Given the description of an element on the screen output the (x, y) to click on. 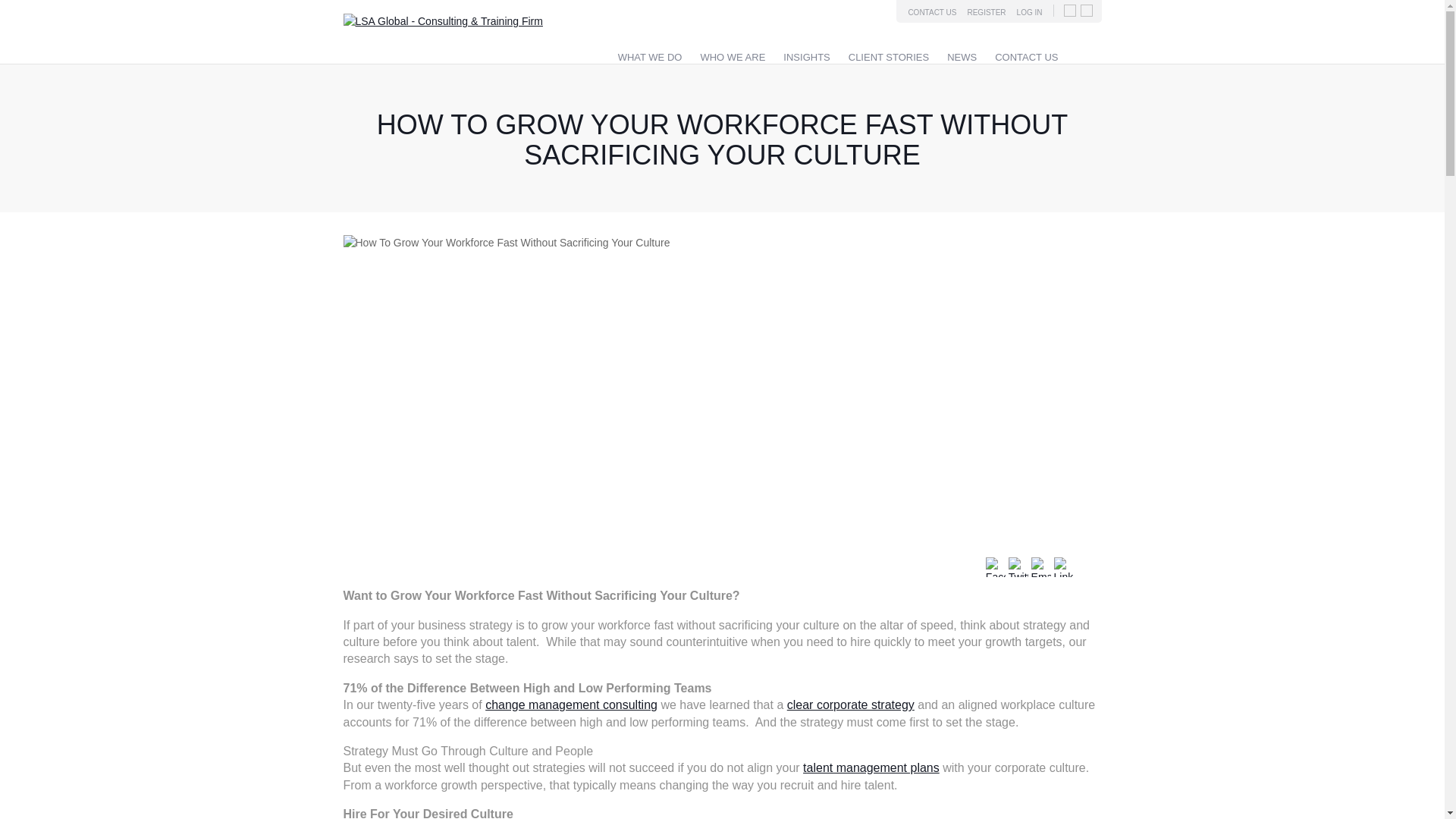
Contact Us (1026, 57)
WHO WE ARE (732, 57)
CLIENT STORIES (888, 57)
LOG IN (1029, 12)
WHAT WE DO (649, 57)
Who We Are (732, 57)
REGISTER (986, 12)
INSIGHTS (806, 57)
Client Stories (888, 57)
NEWS (961, 57)
CONTACT US (931, 12)
Insights (806, 57)
SEARCH (1082, 55)
Return to the homepage (441, 21)
What We Do (649, 57)
